Given the description of an element on the screen output the (x, y) to click on. 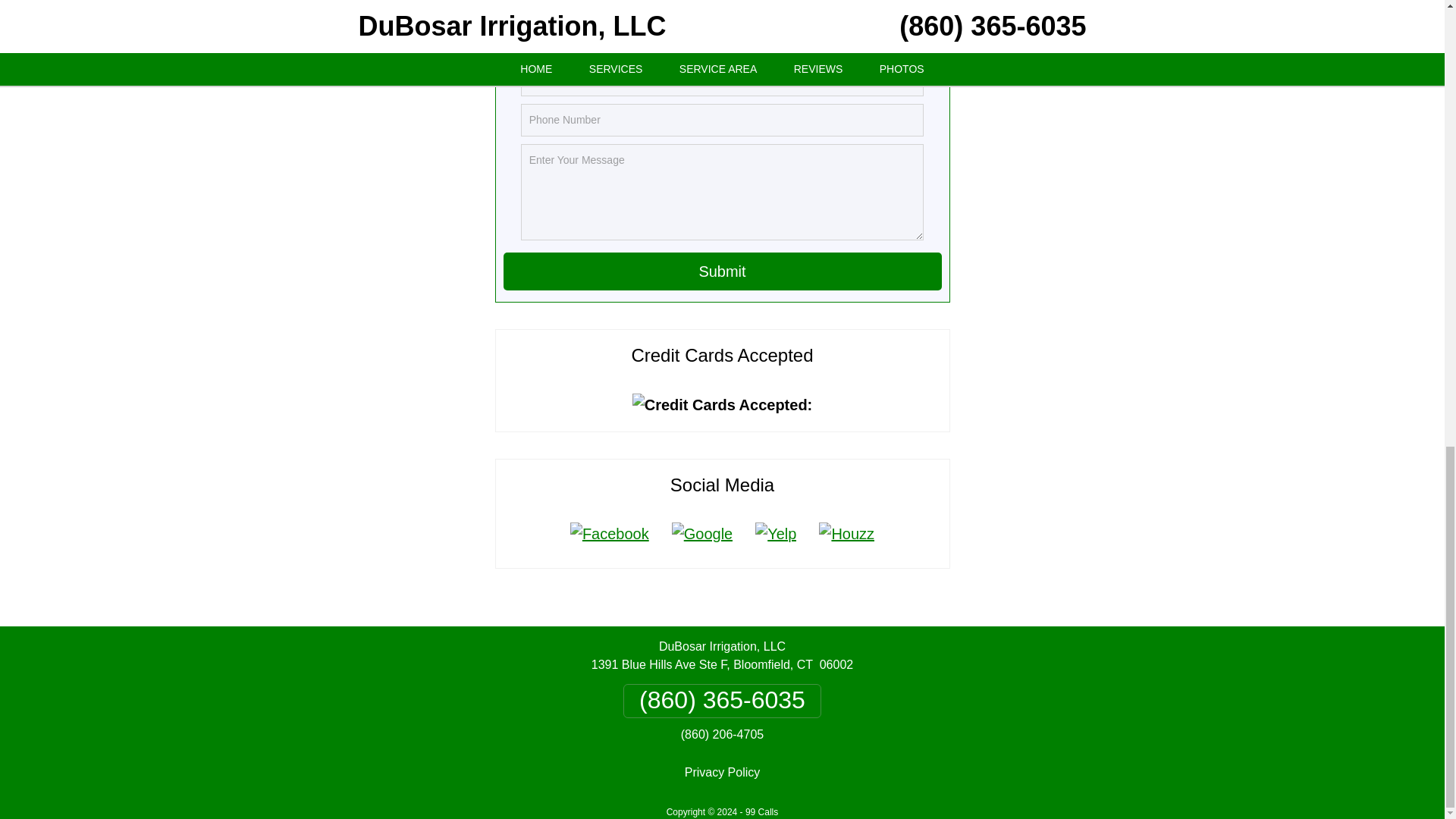
Facebook (610, 533)
Google (702, 533)
Houzz (846, 533)
Privacy Policy (722, 771)
Submit (722, 271)
Yelp (776, 533)
